Given the description of an element on the screen output the (x, y) to click on. 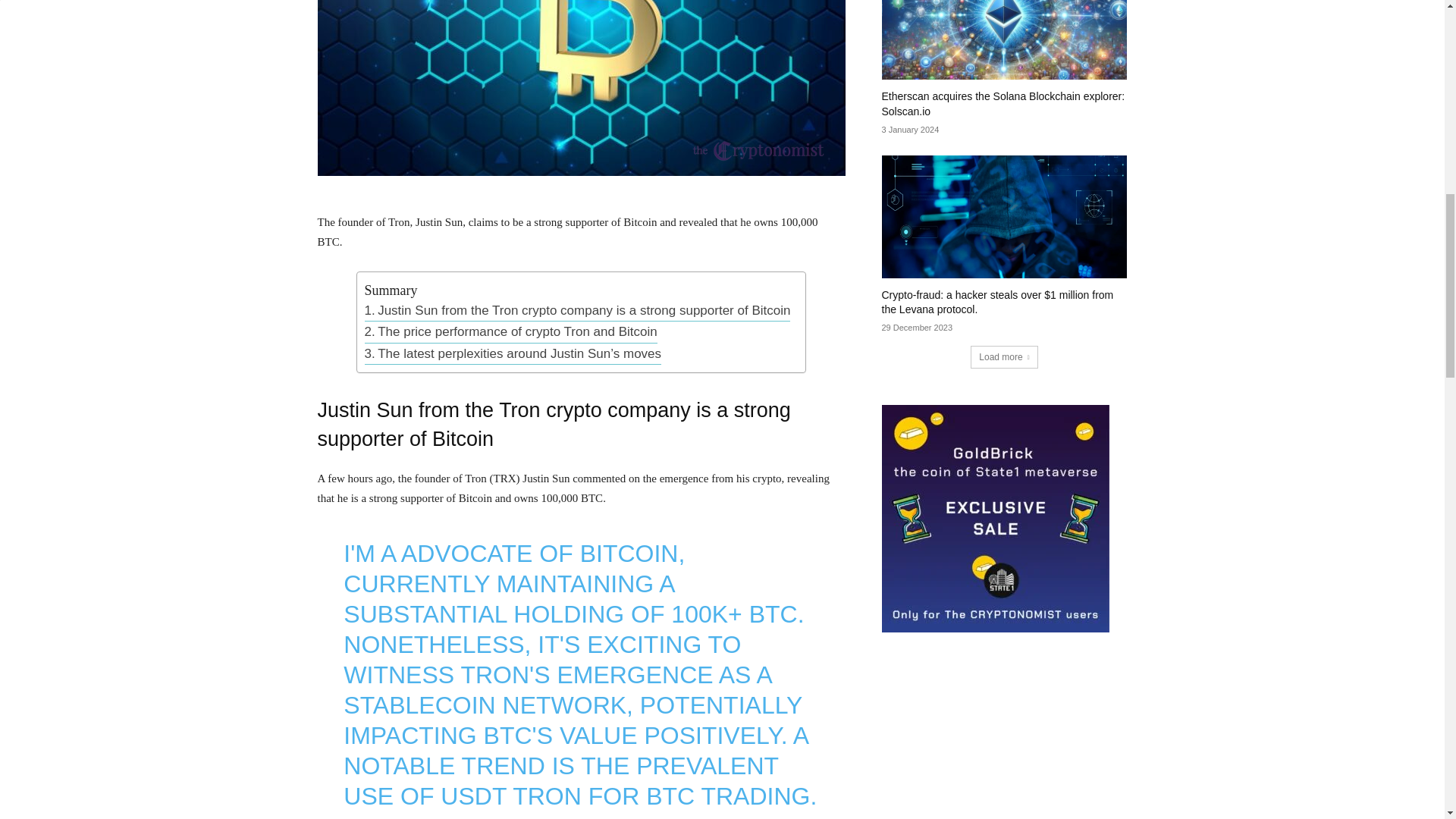
The price performance of crypto Tron and Bitcoin (511, 332)
tron crypto bitcoin (580, 88)
